Given the description of an element on the screen output the (x, y) to click on. 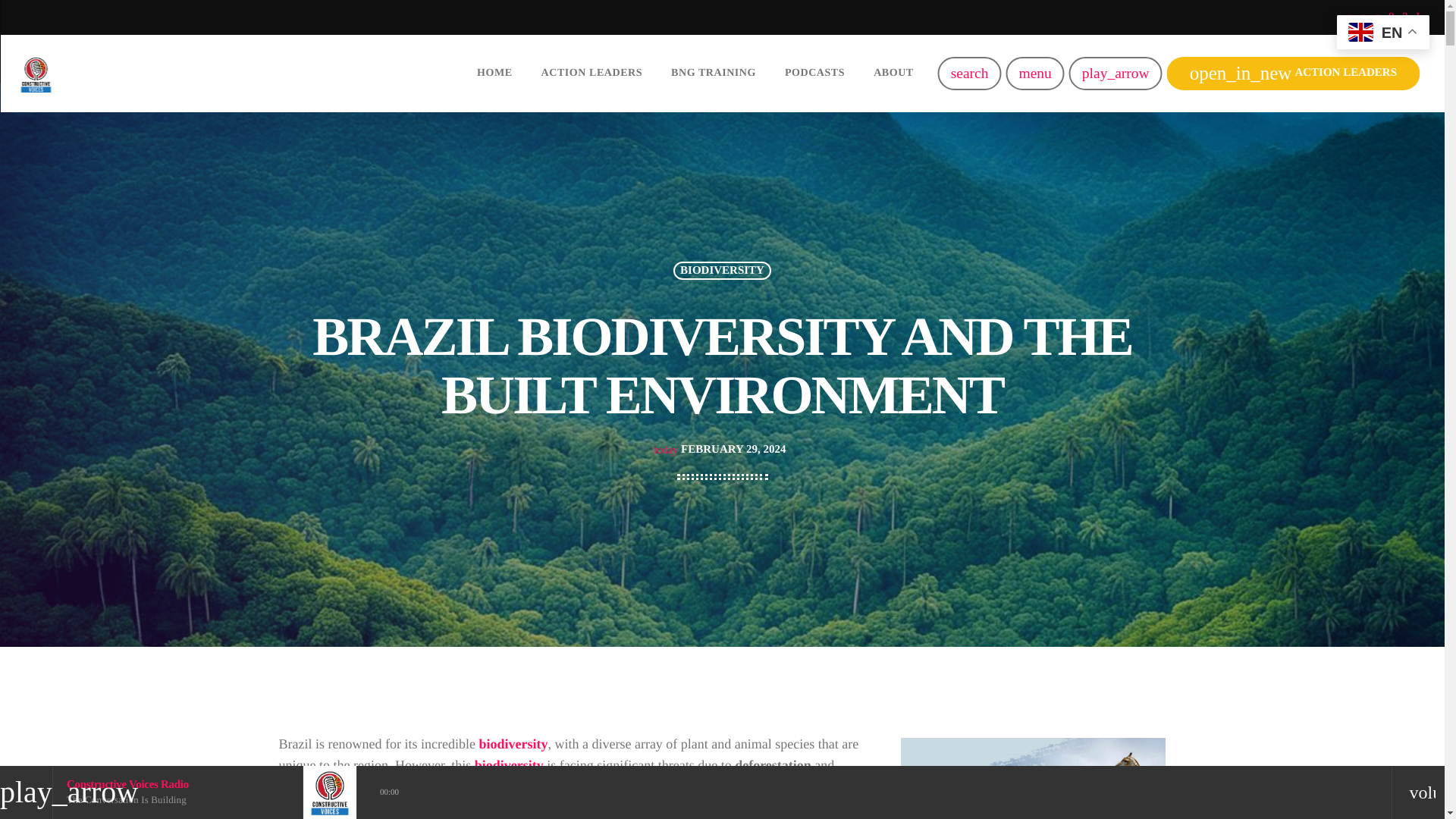
ABOUT (893, 73)
BNG TRAINING (713, 73)
HOME (495, 73)
ACTION LEADERS (591, 73)
PODCASTS (814, 73)
menu (1035, 73)
Constructive Voices Radio (127, 784)
search (969, 73)
